Given the description of an element on the screen output the (x, y) to click on. 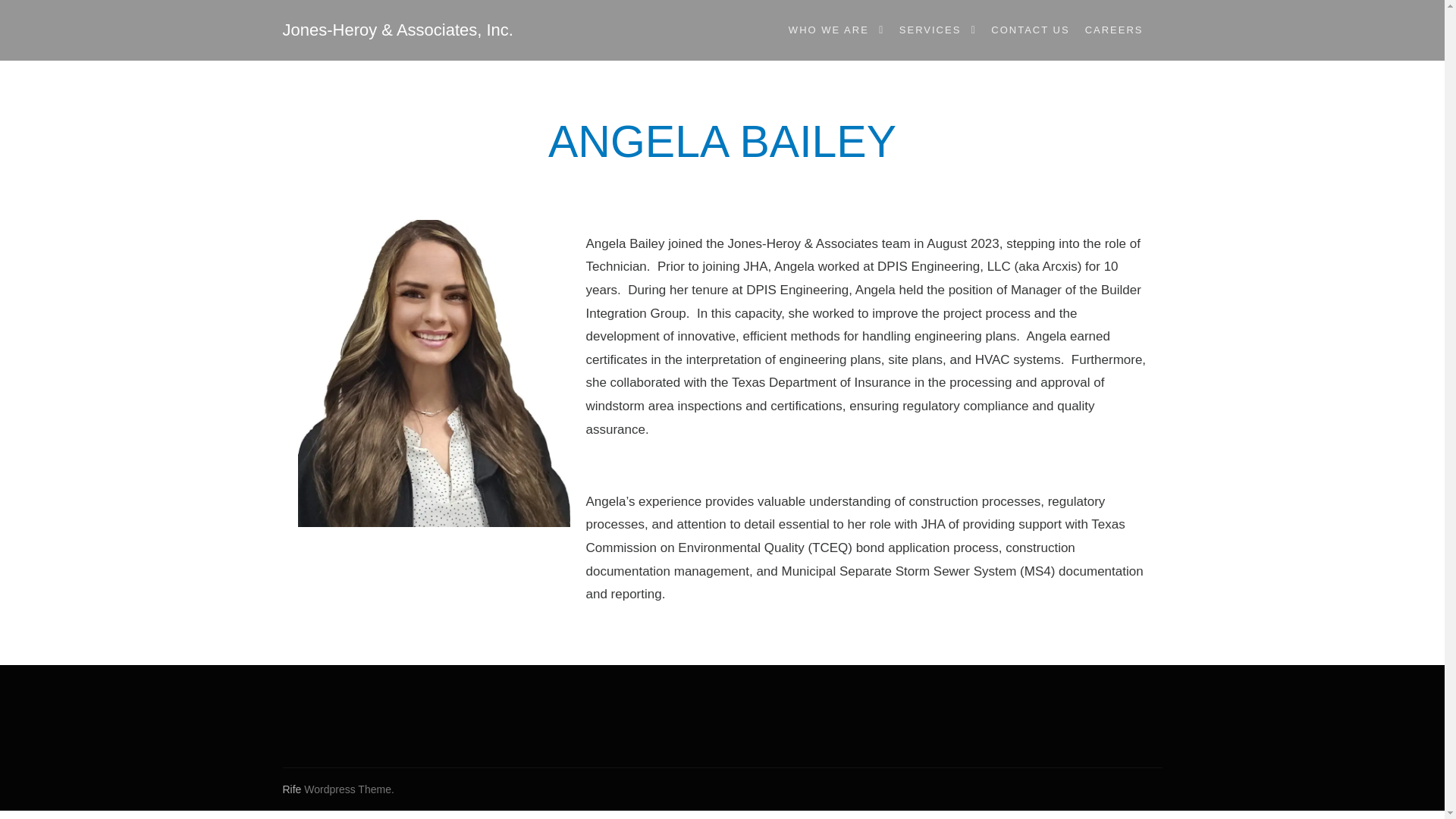
CAREERS (1114, 30)
WHO WE ARE (826, 30)
SERVICES (927, 30)
Jones-Heroy Civil Engineering (357, 30)
CONTACT US (1030, 30)
Rife (291, 788)
